Given the description of an element on the screen output the (x, y) to click on. 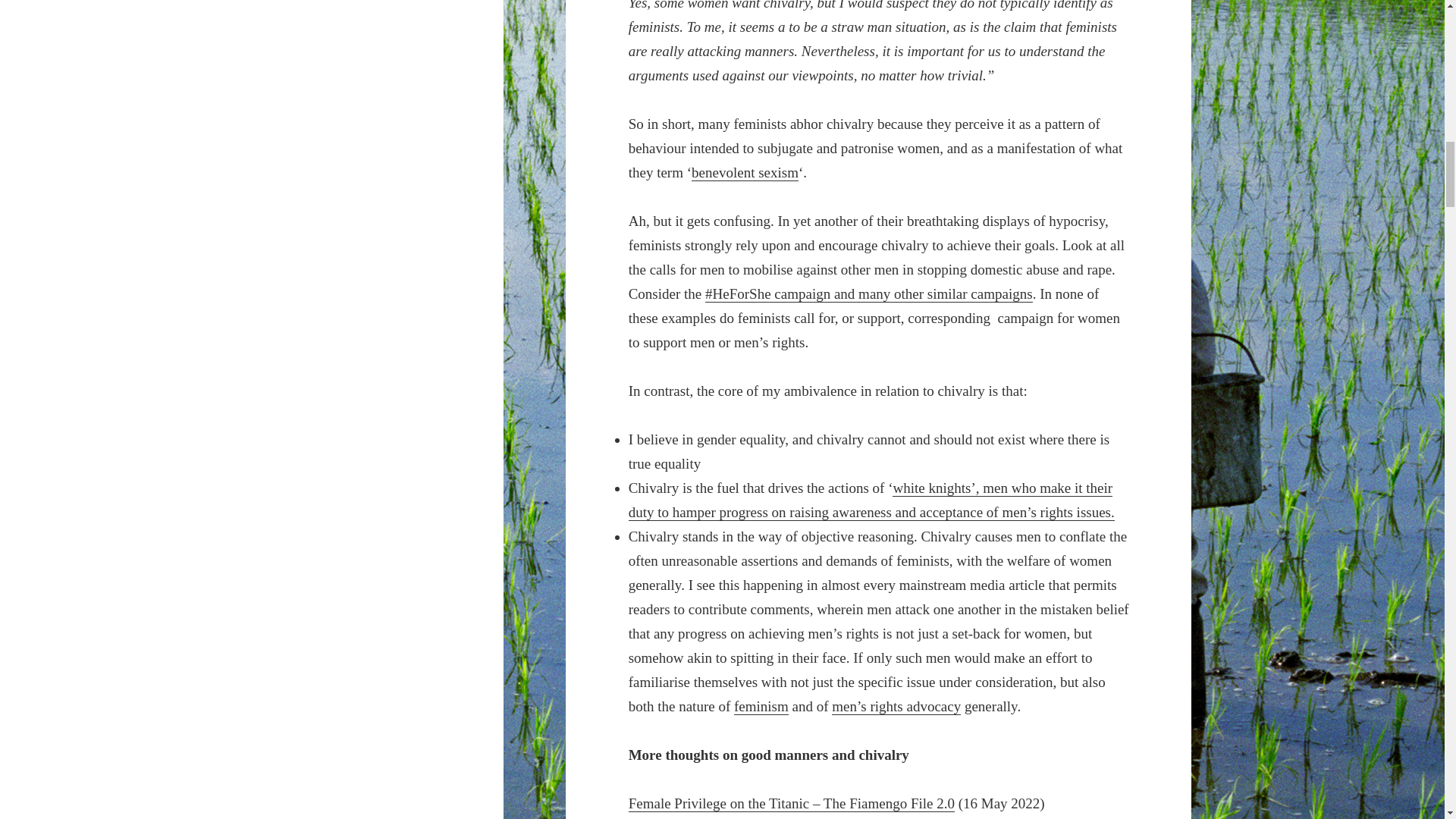
feminism (761, 706)
benevolent sexism (744, 172)
